Given the description of an element on the screen output the (x, y) to click on. 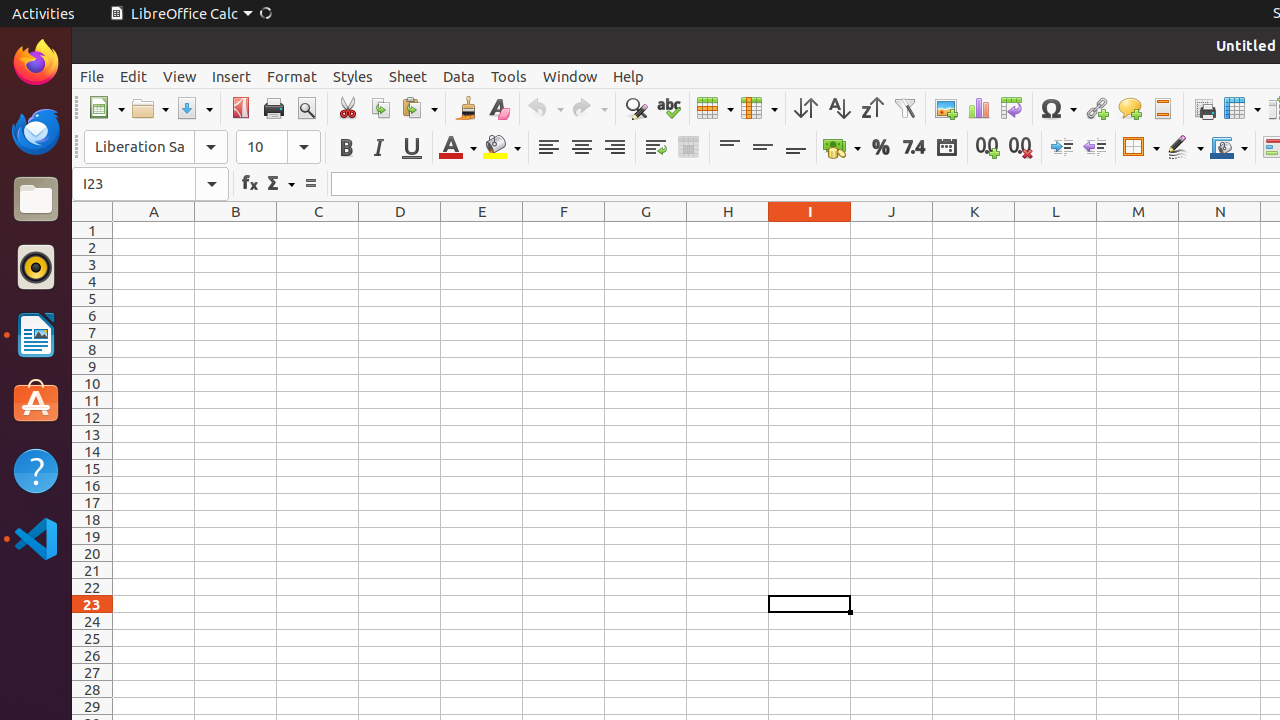
E1 Element type: table-cell (482, 230)
Tools Element type: menu (509, 76)
H1 Element type: table-cell (728, 230)
Insert Element type: menu (231, 76)
I1 Element type: table-cell (810, 230)
